Given the description of an element on the screen output the (x, y) to click on. 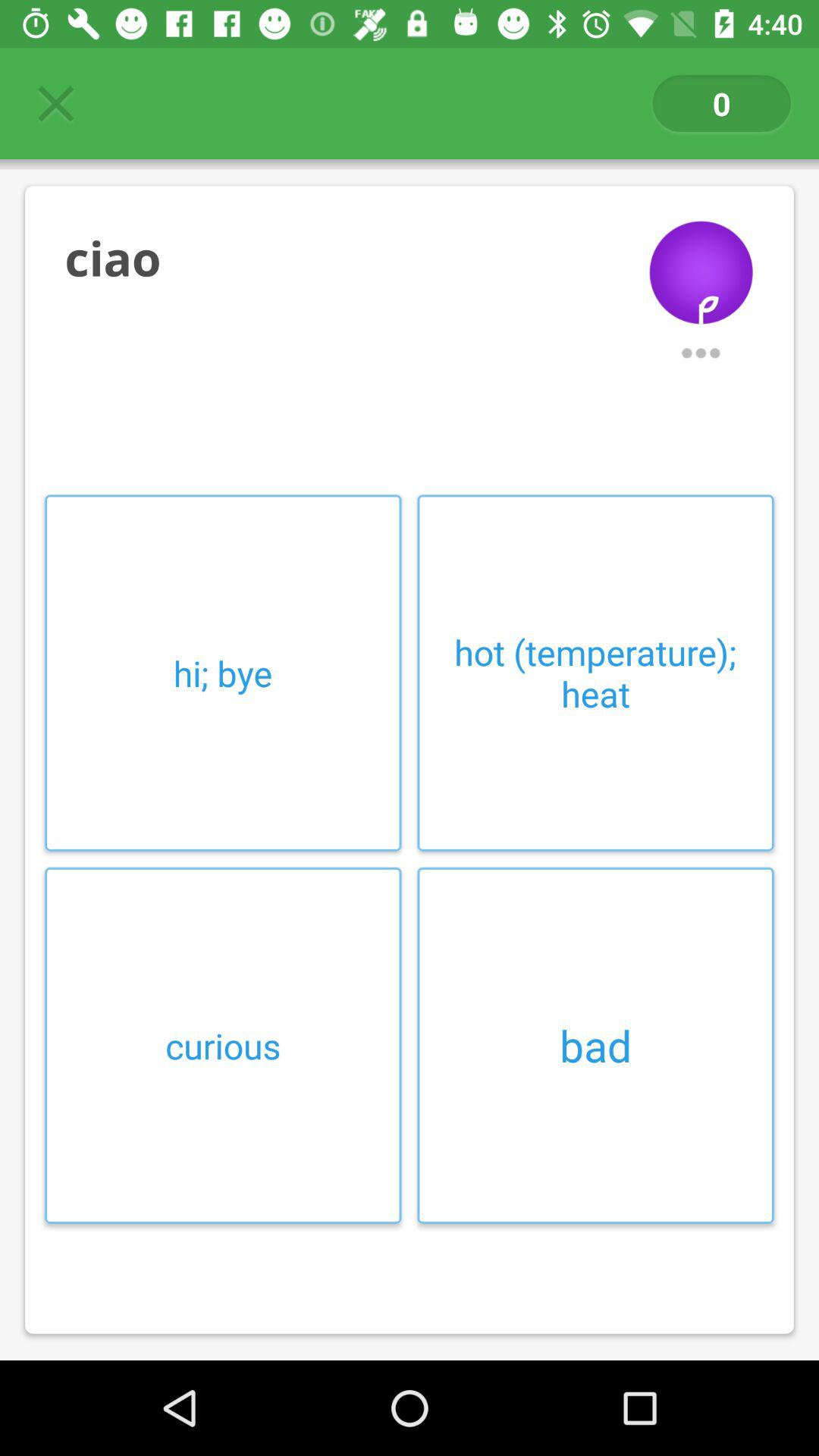
choose hi; bye (222, 672)
